Given the description of an element on the screen output the (x, y) to click on. 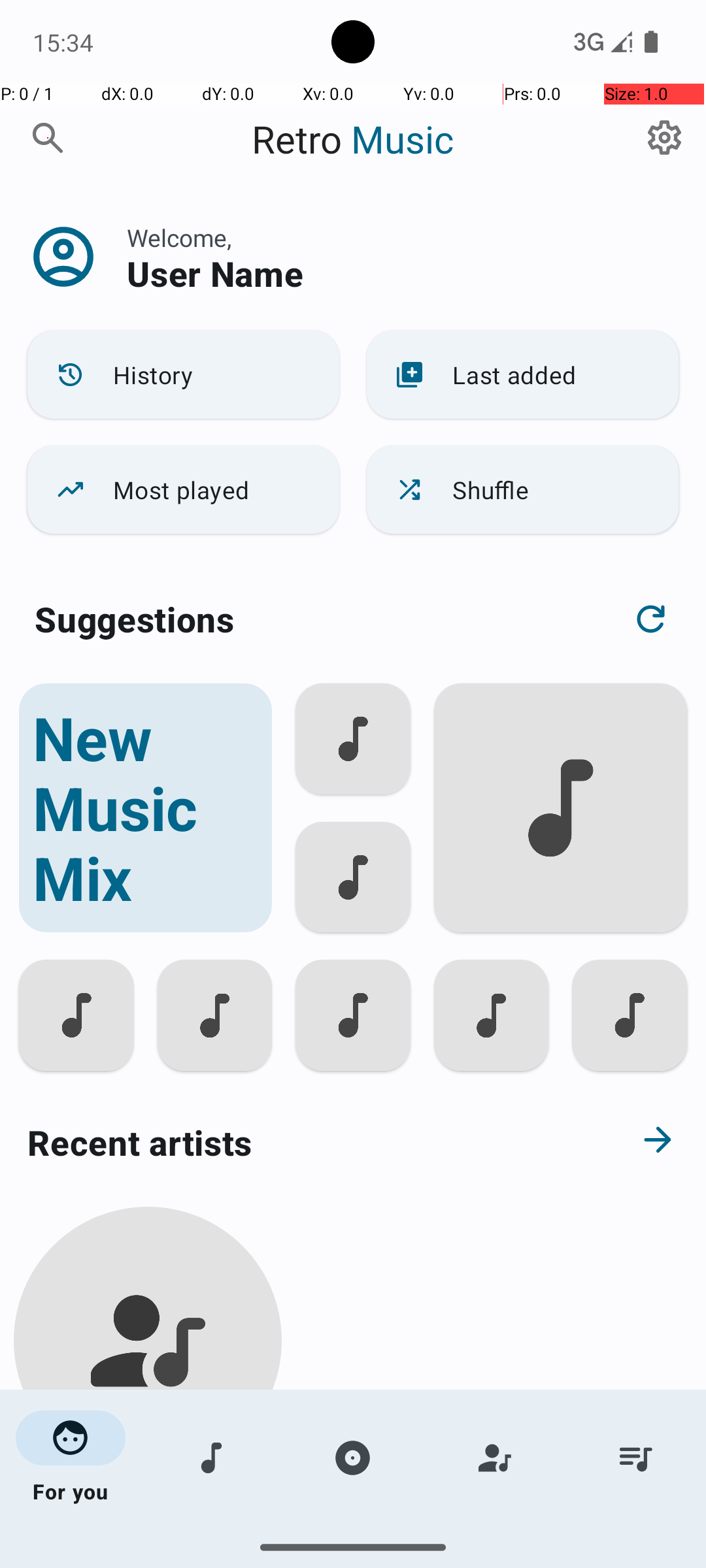
Martina Element type: android.widget.TextView (147, 1503)
